Given the description of an element on the screen output the (x, y) to click on. 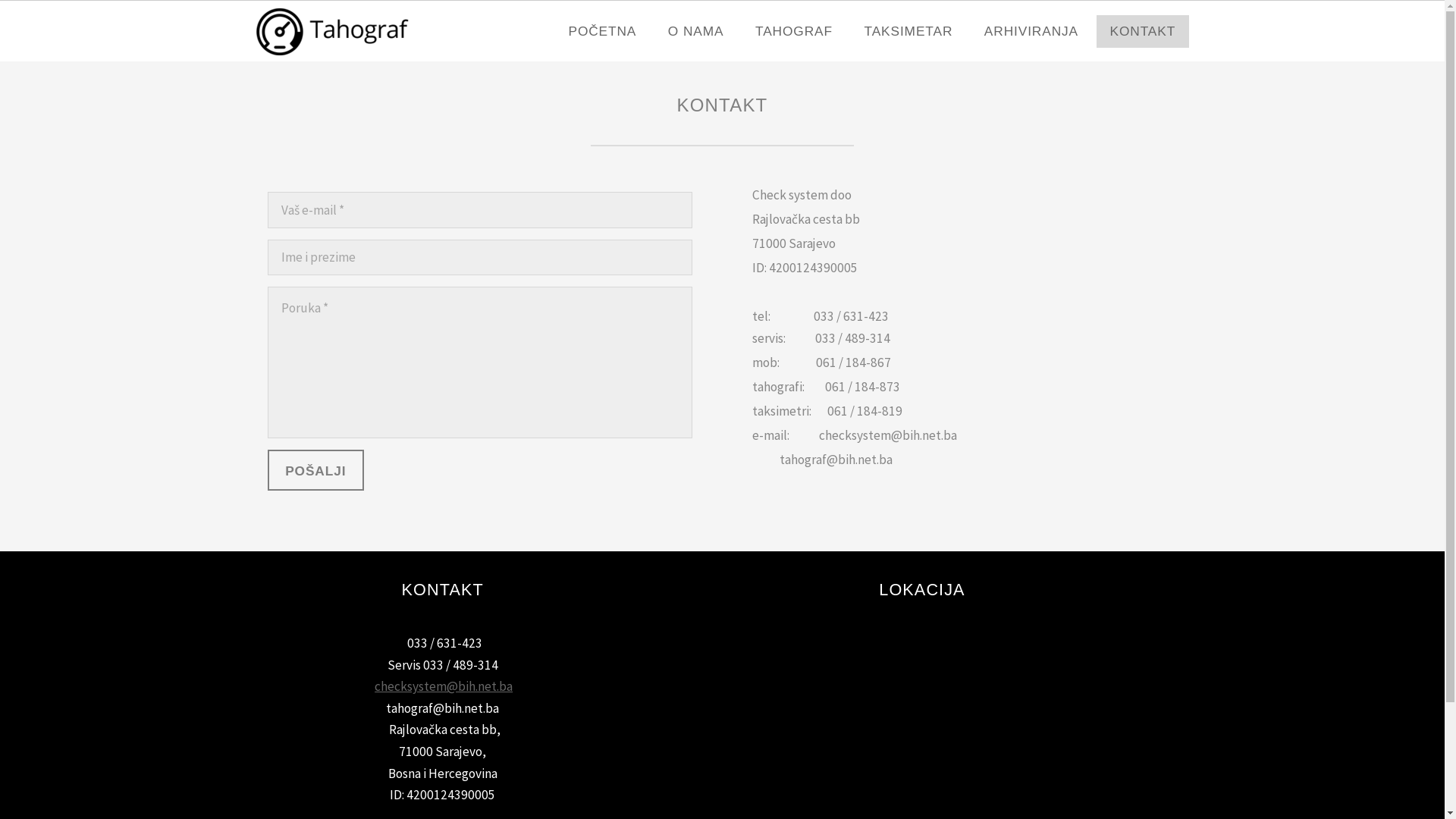
ARHIVIRANJA Element type: text (1031, 31)
TAHOGRAF Element type: text (794, 31)
KONTAKT Element type: text (1142, 31)
TAKSIMETAR Element type: text (907, 31)
checksystem@bih.net.ba Element type: text (443, 685)
O NAMA Element type: text (696, 31)
